Given the description of an element on the screen output the (x, y) to click on. 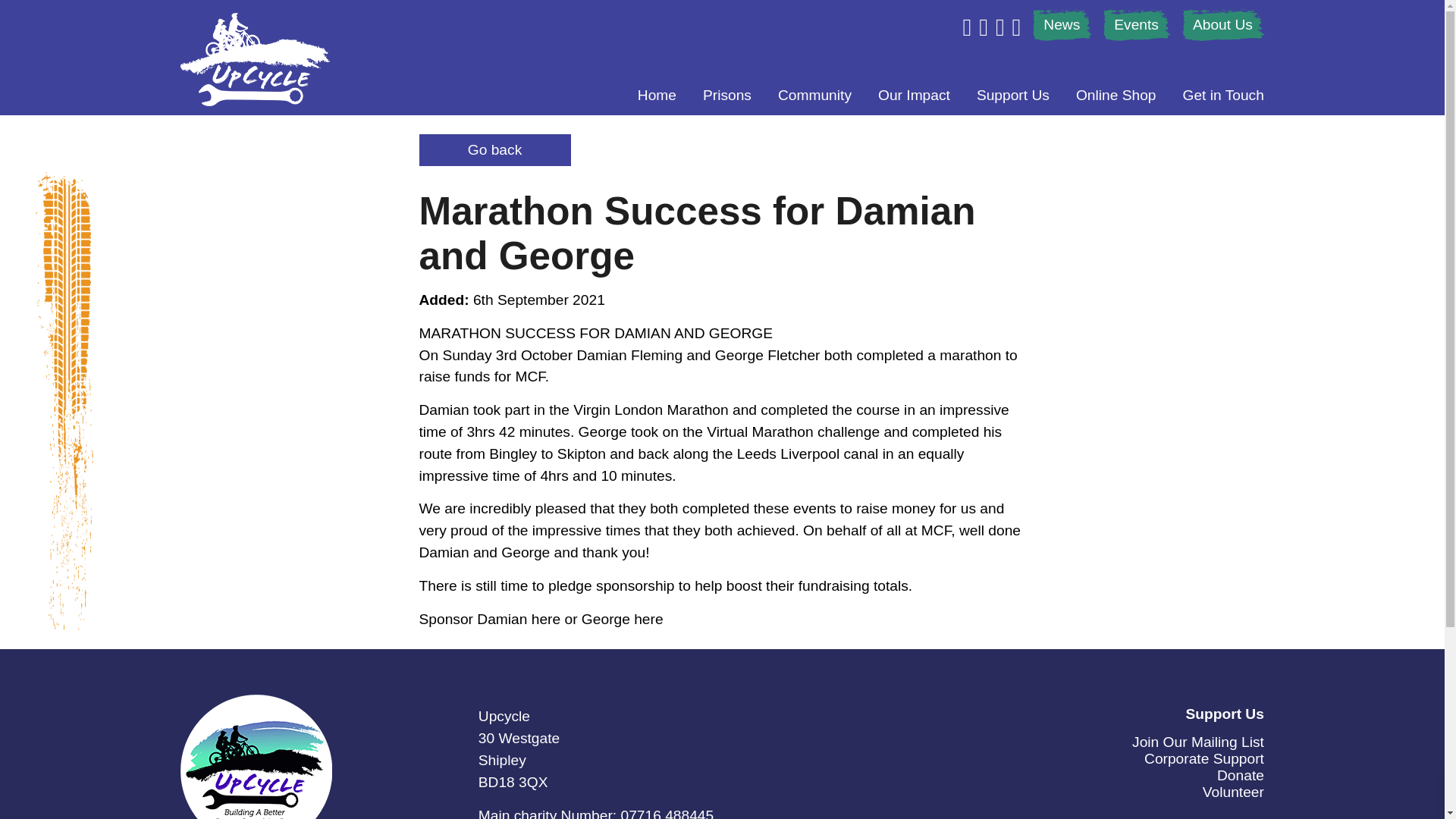
Go back (494, 150)
Upcycle (255, 61)
About Us (1221, 24)
Skip to main content (66, 8)
Community (814, 95)
Get in Touch (1222, 95)
Donate (1240, 774)
Volunteer (1232, 791)
Prisons (727, 95)
Online Shop (1115, 95)
Support Us (1012, 95)
Our Impact (913, 95)
Home (657, 95)
News (1061, 24)
Join Our Mailing List (1197, 741)
